Given the description of an element on the screen output the (x, y) to click on. 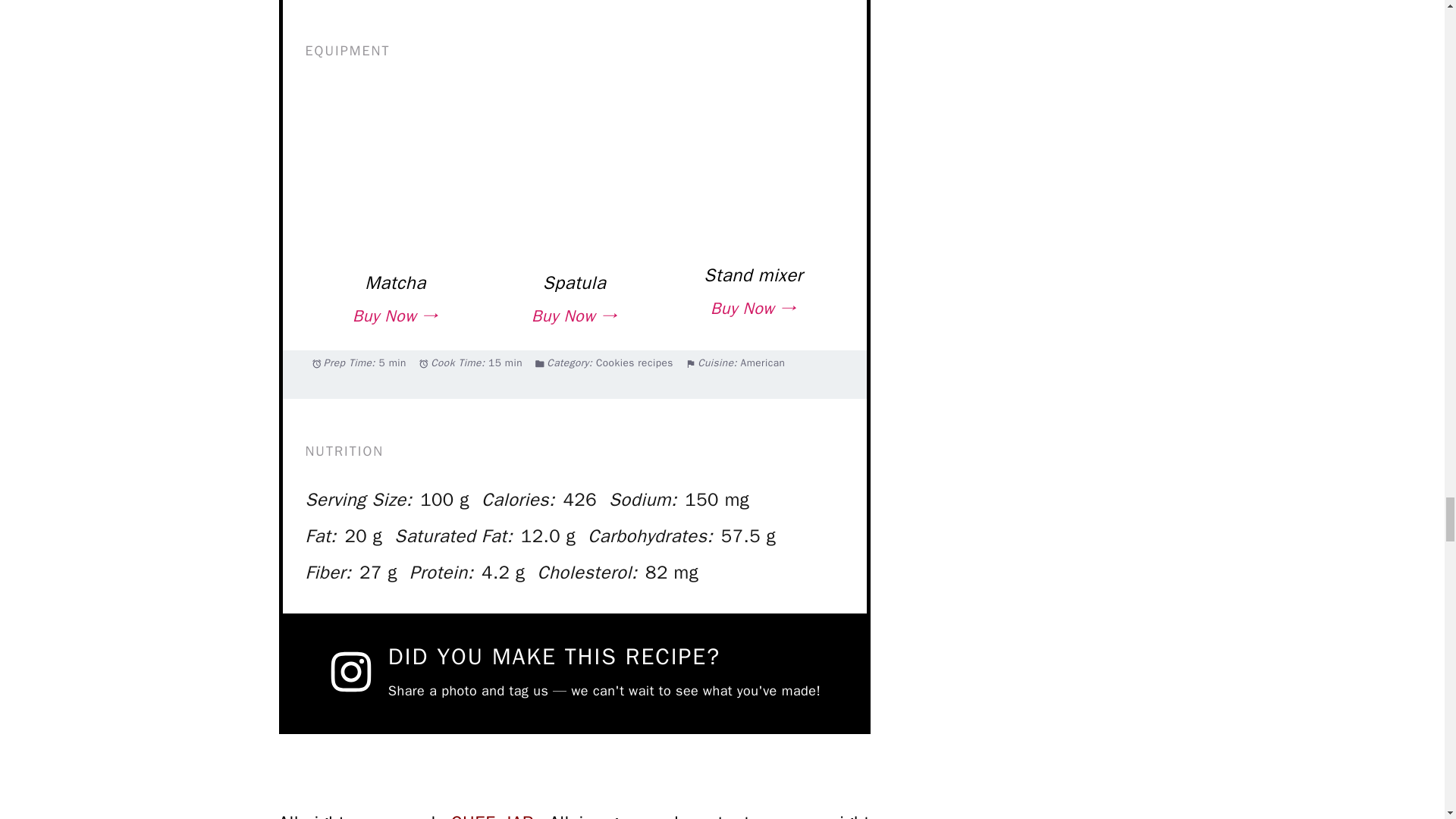
Matcha (395, 282)
Stand mixer (752, 274)
Spatula (574, 282)
